Given the description of an element on the screen output the (x, y) to click on. 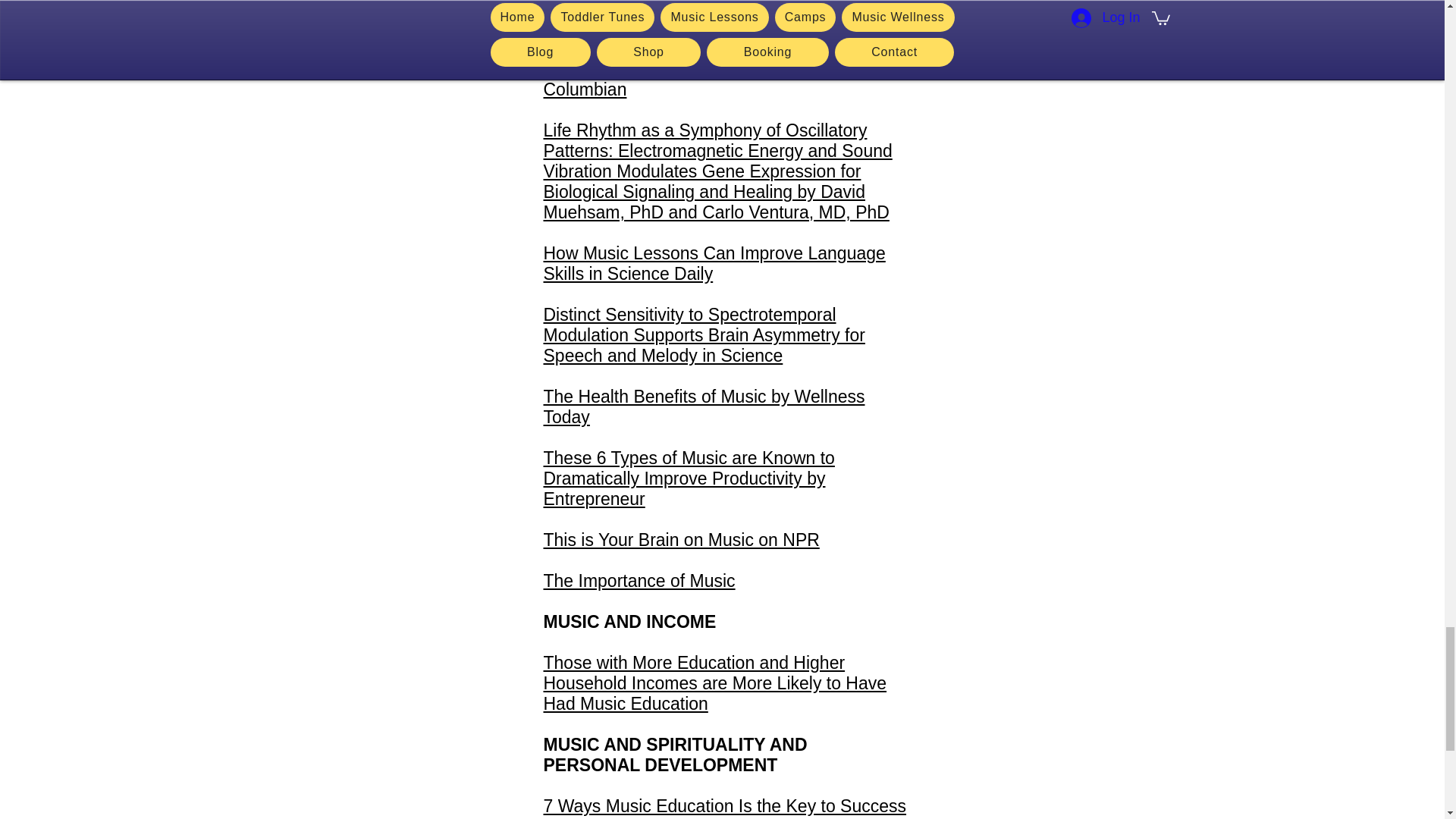
The Health Benefits of Music by Wellness Today (703, 406)
Music Therapy for Infants in NICU by The Columbian (703, 78)
